Given the description of an element on the screen output the (x, y) to click on. 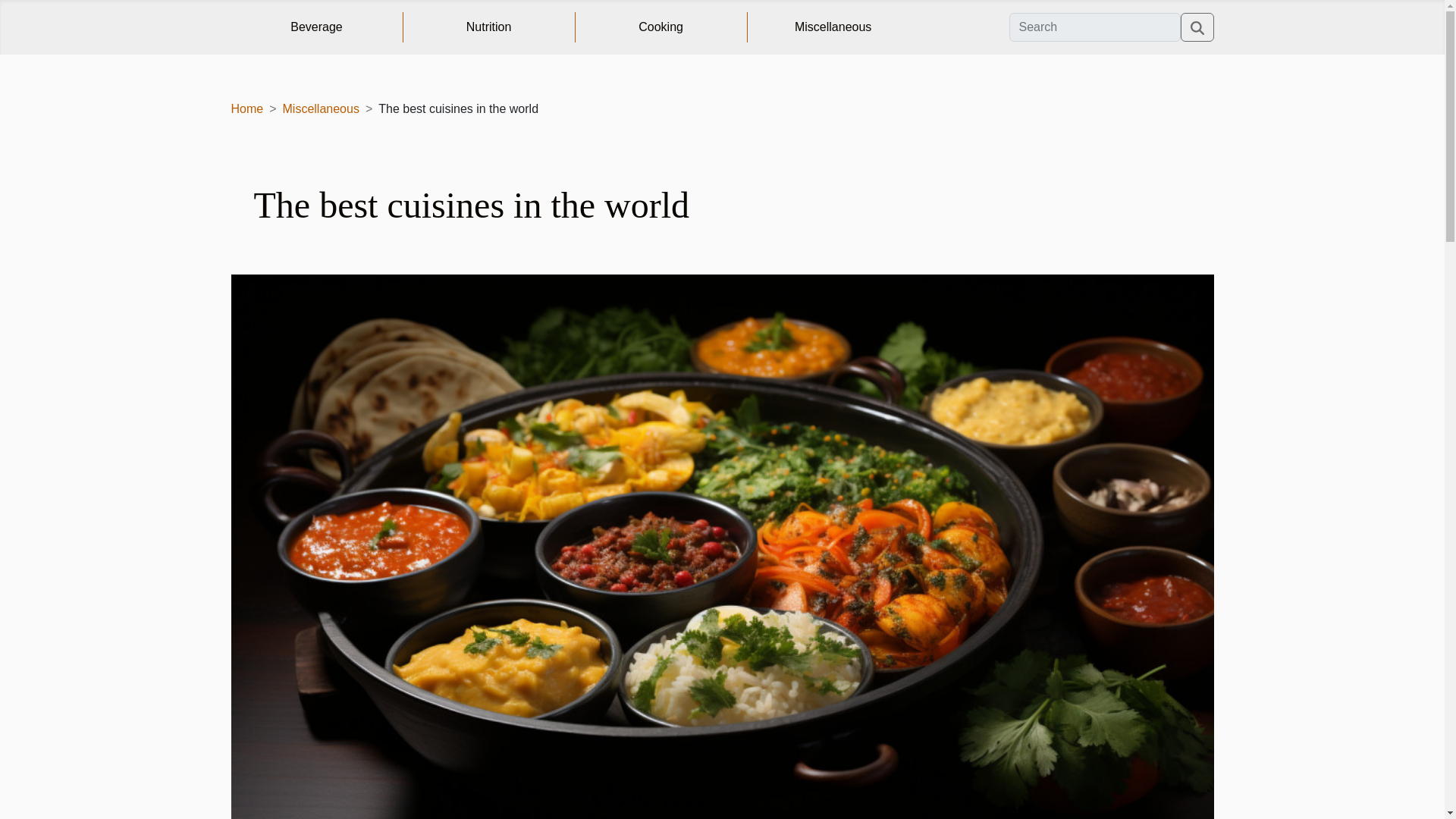
Miscellaneous (320, 108)
Beverage (316, 27)
Miscellaneous (320, 108)
Miscellaneous (833, 27)
Cooking (661, 27)
Home (246, 108)
Nutrition (489, 27)
